Given the description of an element on the screen output the (x, y) to click on. 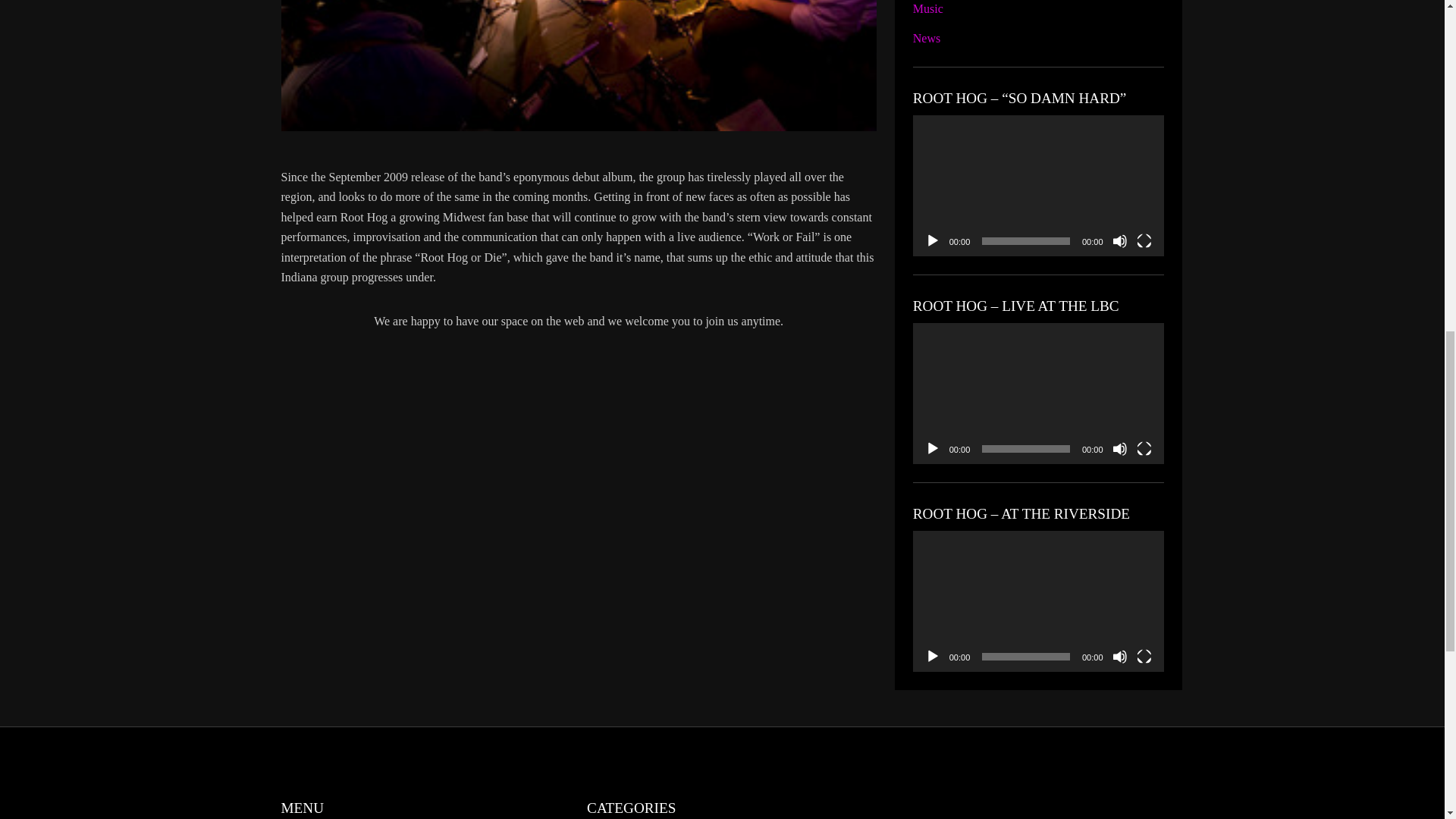
Fullscreen (1143, 240)
Mute (1119, 448)
Fullscreen (1143, 656)
Play (932, 240)
Play (932, 656)
Mute (1119, 240)
Mute (1119, 656)
Music (927, 8)
Play (932, 448)
News (926, 38)
Fullscreen (1143, 448)
